Given the description of an element on the screen output the (x, y) to click on. 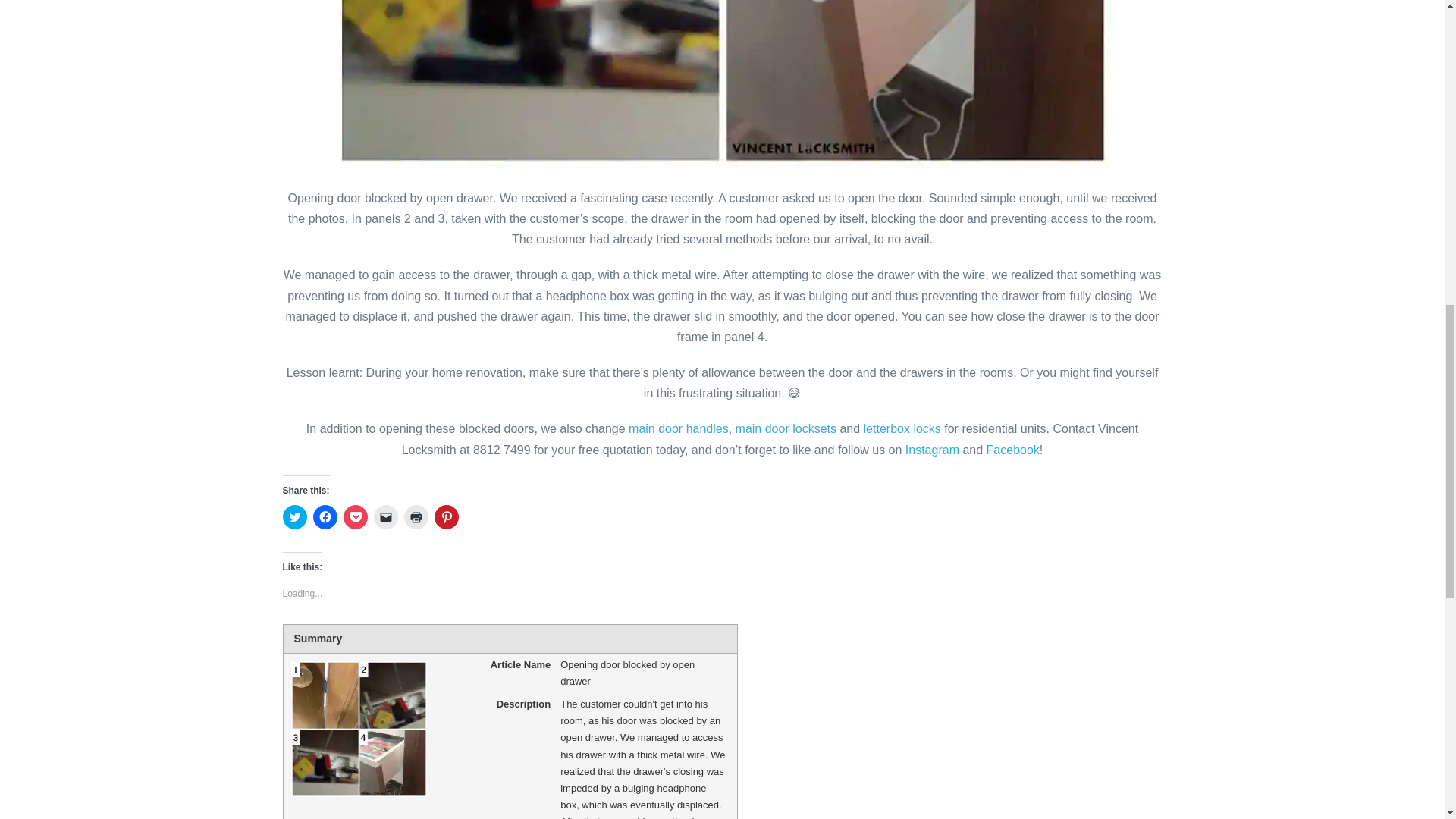
Opening door blocked by open drawer (721, 83)
Click to share on Twitter (293, 517)
Click to share on Facebook (324, 517)
main door handles (678, 428)
main door locksets (785, 428)
Click to print (415, 517)
Facebook (1013, 449)
letterbox locks (901, 428)
Instagram (932, 449)
Click to email a link to a friend (384, 517)
Click to share on Pinterest (445, 517)
Click to share on Pocket (354, 517)
